Given the description of an element on the screen output the (x, y) to click on. 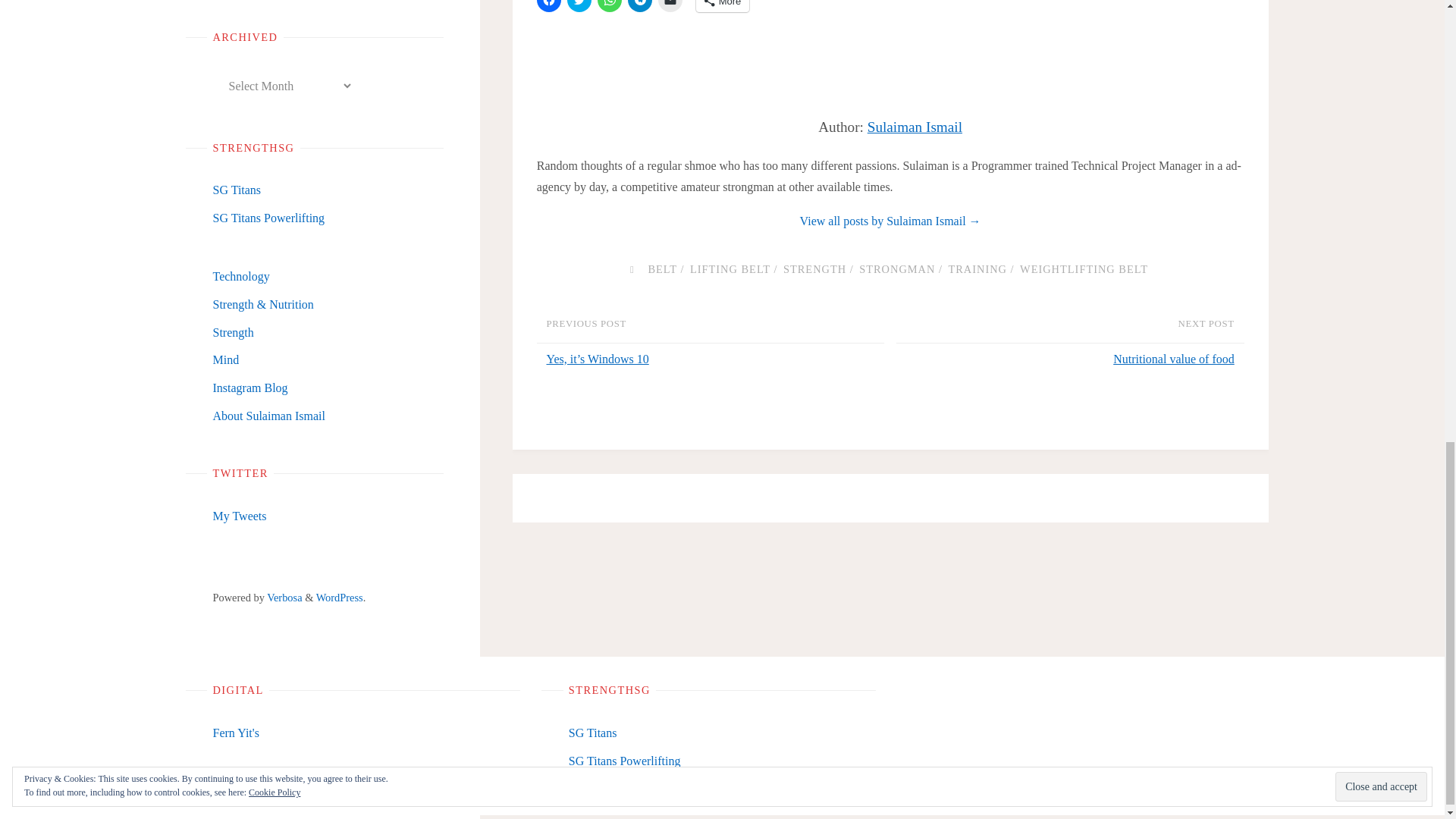
Mind (225, 359)
SG Titans Powerlifting (268, 217)
Verbosa WordPress Theme by Cryout Creations (283, 597)
SG Titans Singapore (236, 189)
Technology (240, 276)
About Sulaiman Ismail (268, 415)
Semantic Personal Publishing Platform (338, 597)
SG Titans (236, 189)
My Tweets (239, 515)
Verbosa (283, 597)
